Given the description of an element on the screen output the (x, y) to click on. 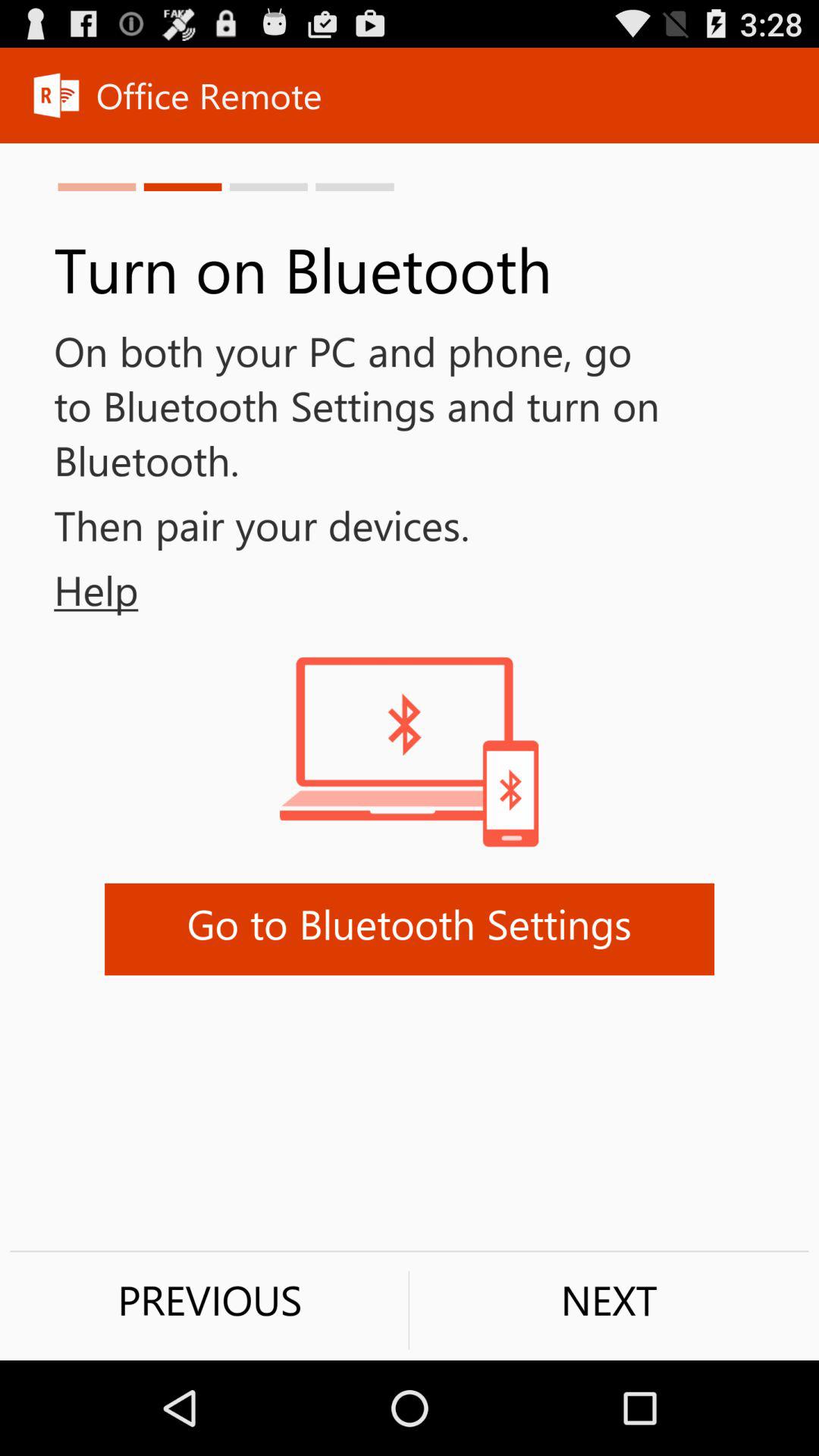
turn off the icon next to the next item (209, 1300)
